Given the description of an element on the screen output the (x, y) to click on. 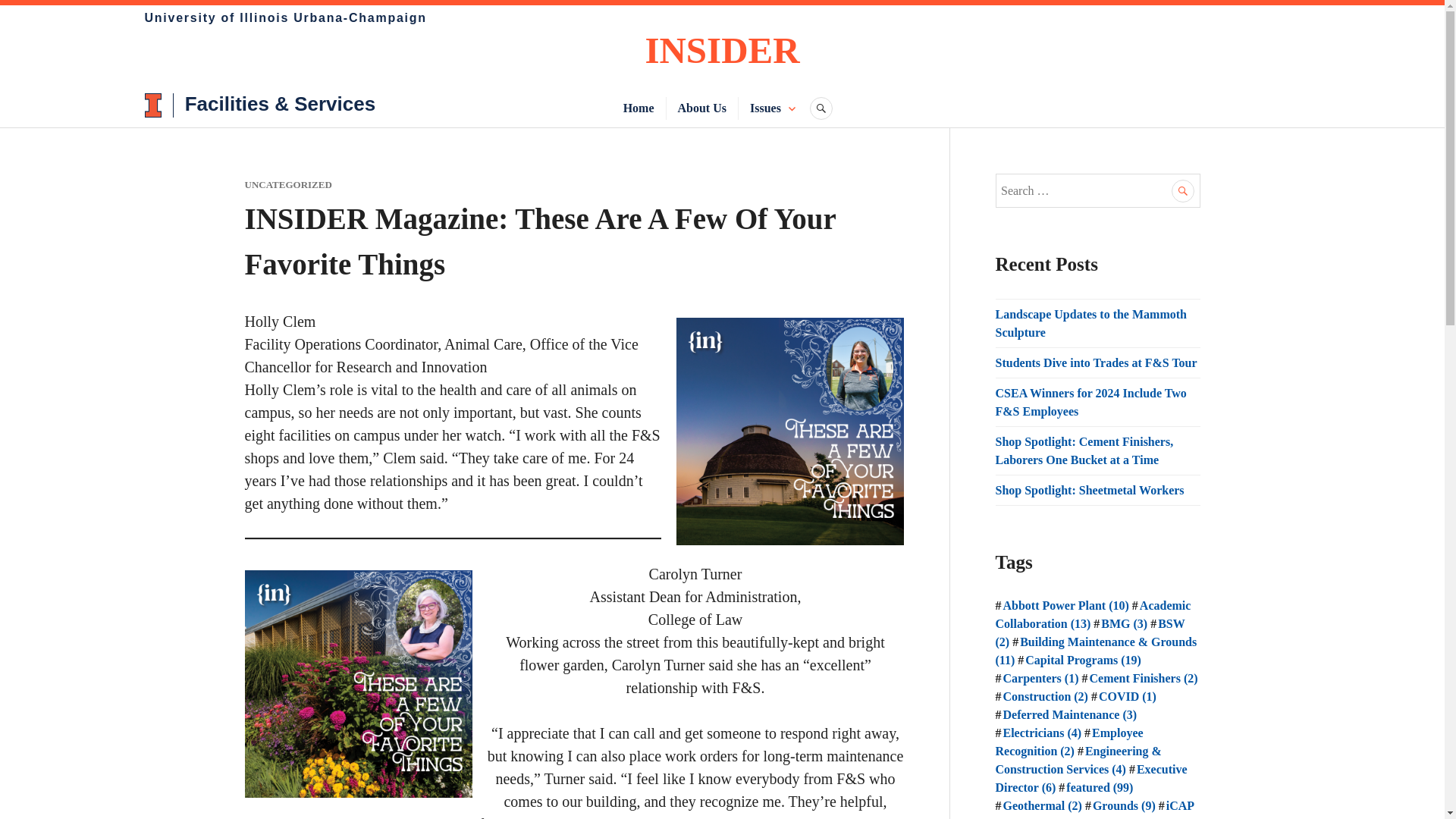
About Us (702, 108)
INSIDER (722, 50)
Landscape Updates to the Mammoth Sculpture (1090, 323)
Issues (764, 108)
SEARCH (820, 108)
University of Illinois Urbana-Champaign (285, 16)
UNCATEGORIZED (287, 184)
Home (638, 108)
Search (1182, 190)
Search (1182, 190)
Shop Spotlight: Sheetmetal Workers (1088, 490)
Search (1182, 190)
